Given the description of an element on the screen output the (x, y) to click on. 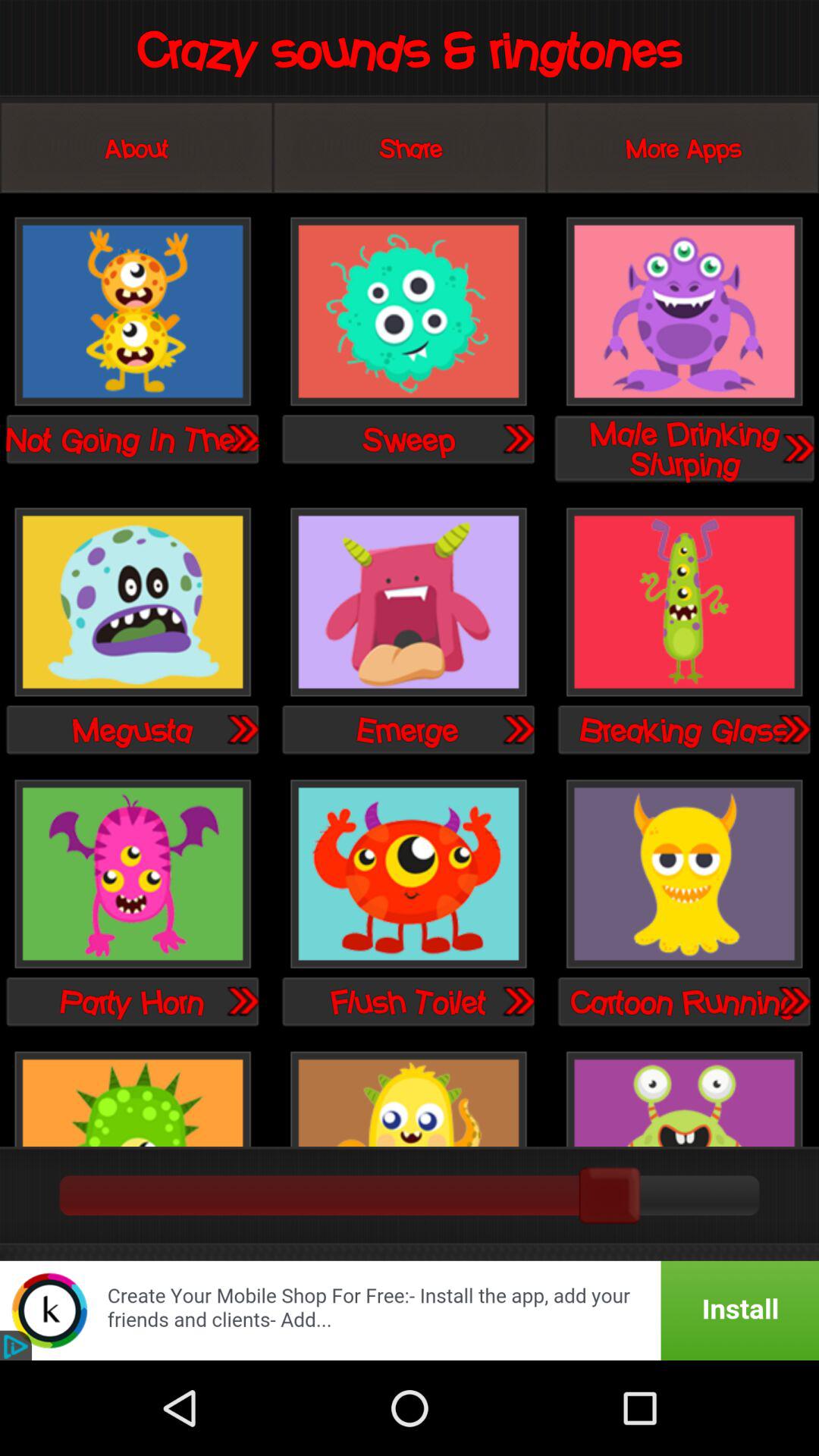
play party horn 's sound (242, 1000)
